Given the description of an element on the screen output the (x, y) to click on. 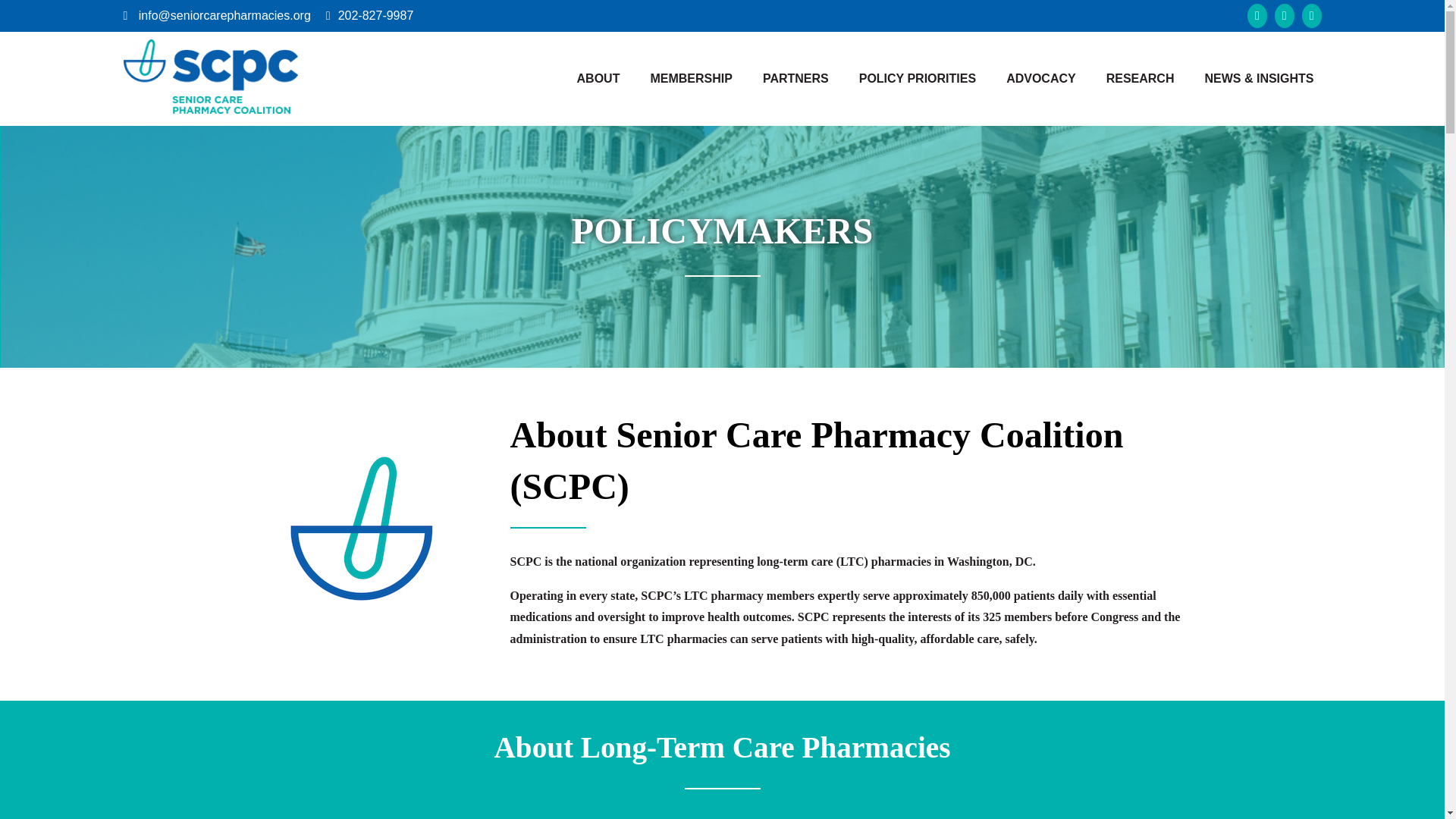
MEMBERSHIP (690, 78)
ABOUT (598, 78)
RESEARCH (1140, 78)
202-827-9987 (369, 15)
ADVOCACY (1040, 78)
POLICY PRIORITIES (917, 78)
PARTNERS (795, 78)
